Given the description of an element on the screen output the (x, y) to click on. 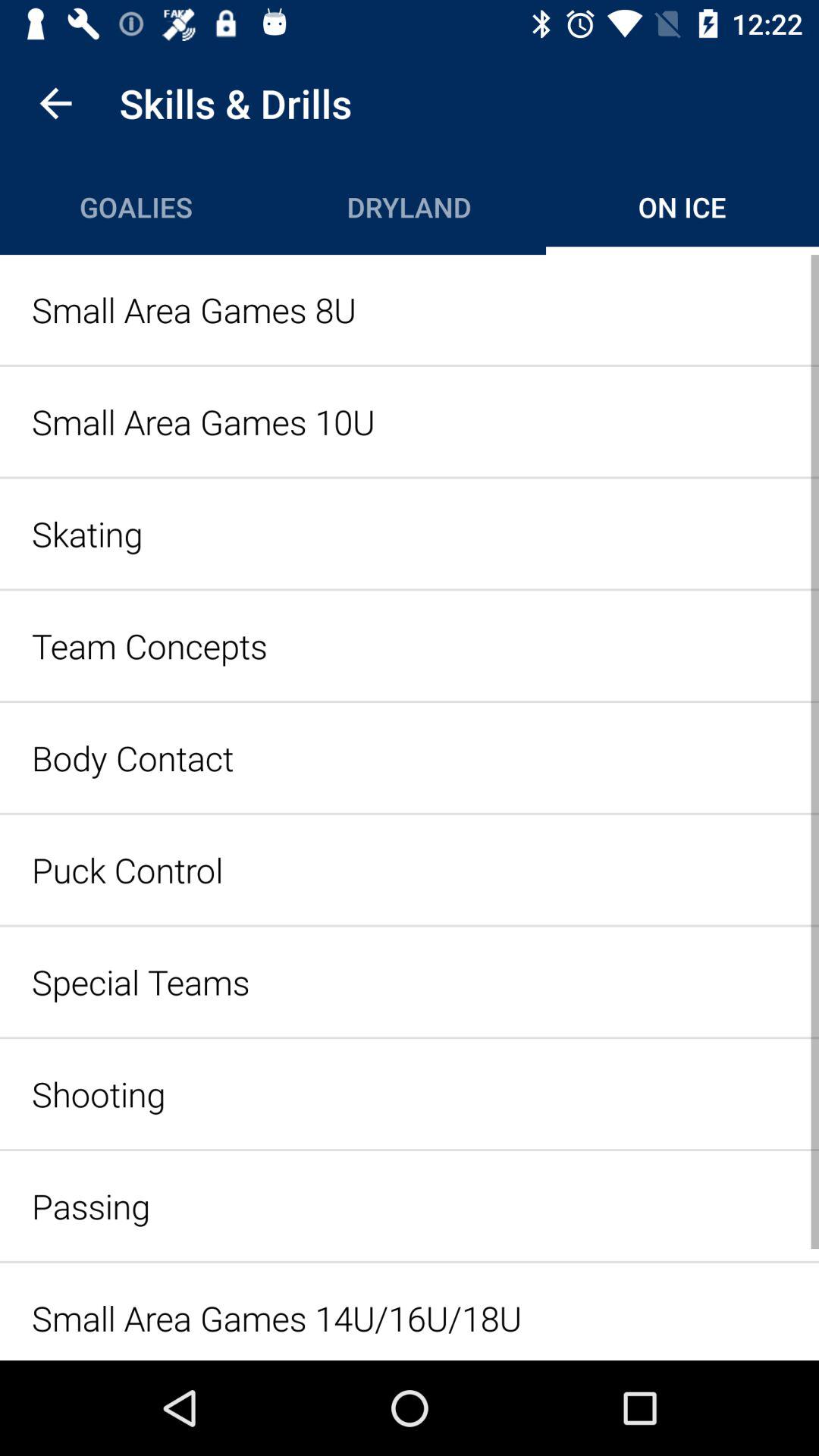
scroll until team concepts item (409, 645)
